Given the description of an element on the screen output the (x, y) to click on. 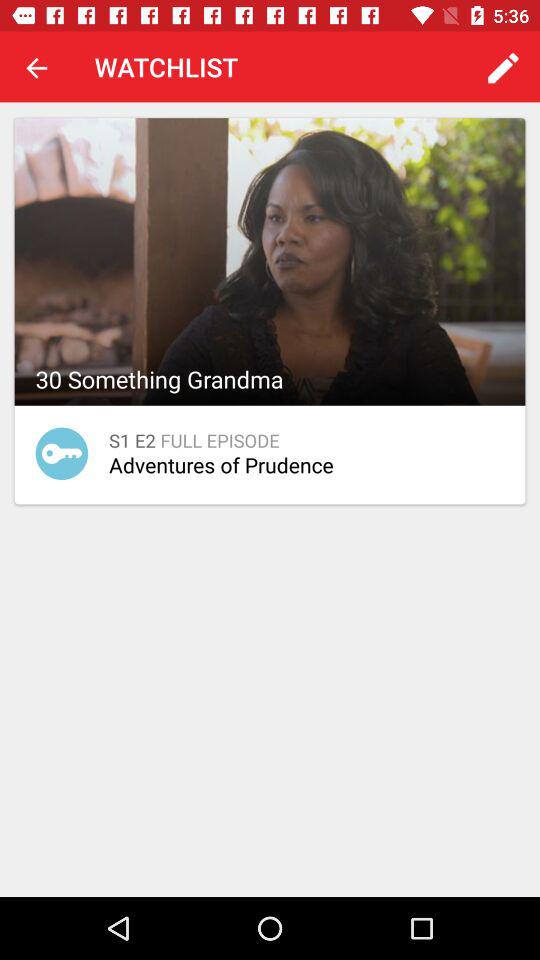
tap item at the top right corner (503, 67)
